Given the description of an element on the screen output the (x, y) to click on. 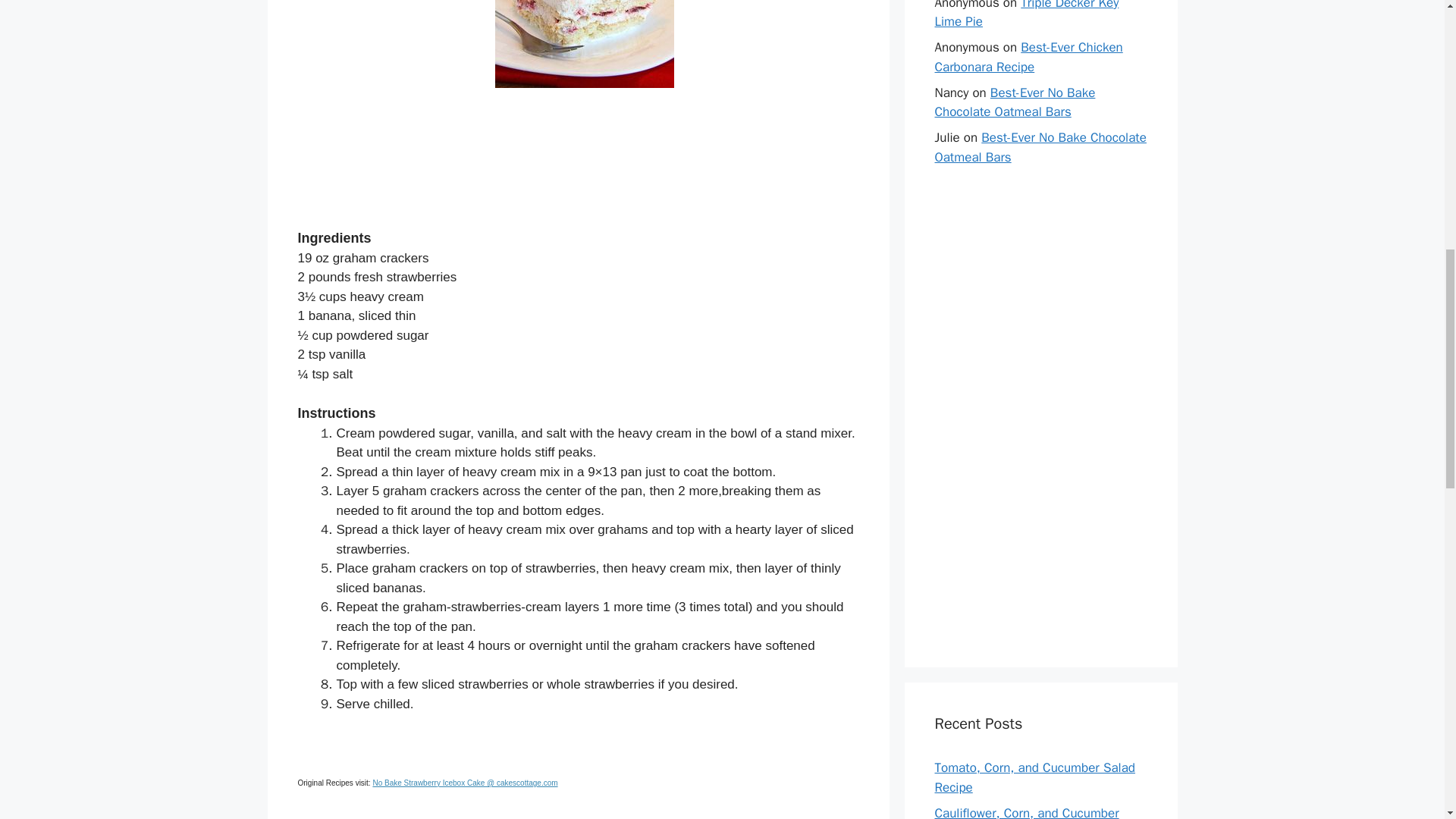
Best-Ever Chicken Carbonara Recipe (1028, 57)
Advertisement (578, 166)
Triple Decker Key Lime Pie (1026, 14)
Best-Ever No Bake Chocolate Oatmeal Bars (1014, 102)
Cauliflower, Corn, and Cucumber Salad Recipe (1026, 812)
Best-Ever No Bake Chocolate Oatmeal Bars (1039, 147)
Tomato, Corn, and Cucumber Salad Recipe (1034, 777)
